Given the description of an element on the screen output the (x, y) to click on. 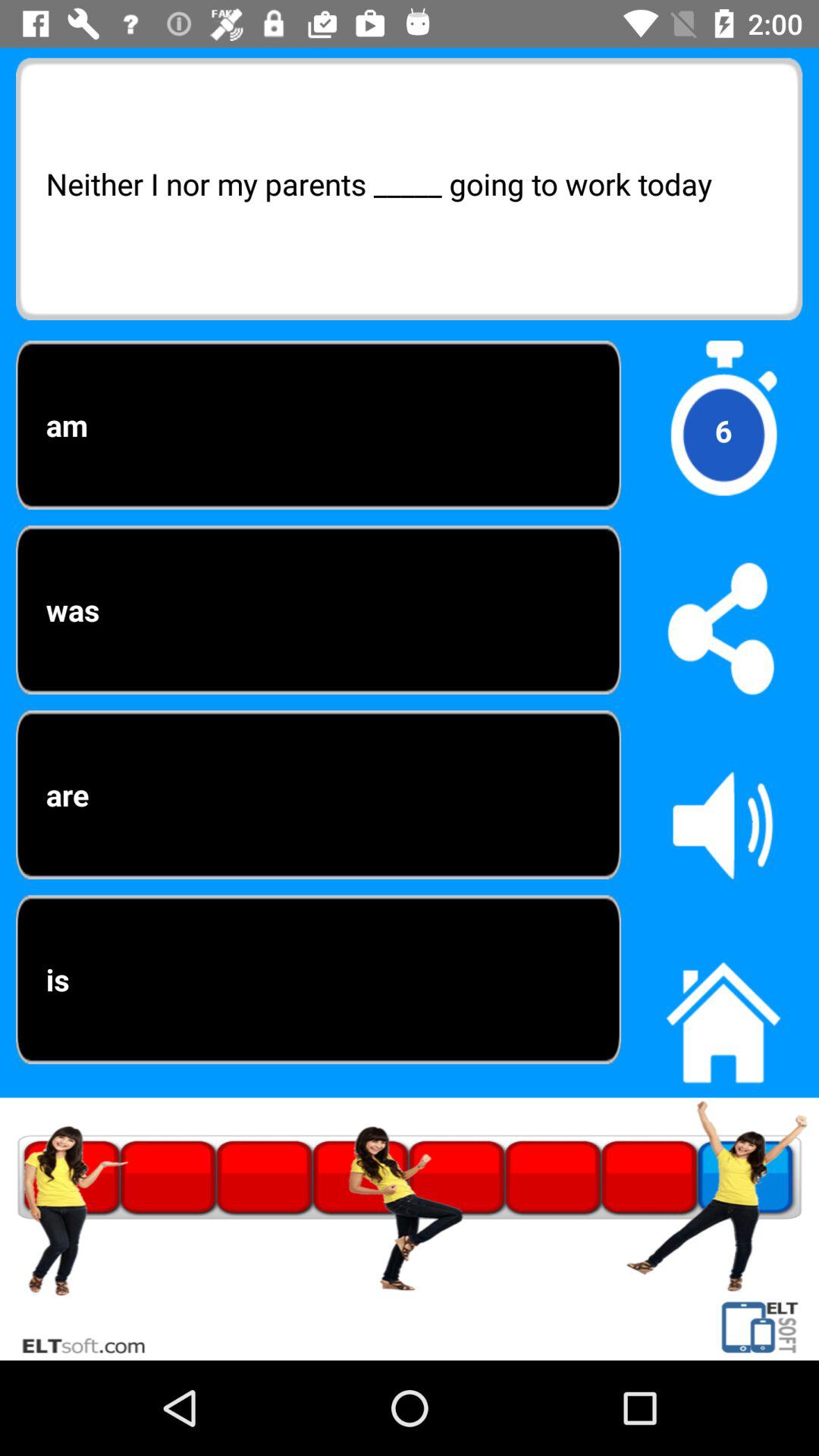
flip to was icon (318, 609)
